Given the description of an element on the screen output the (x, y) to click on. 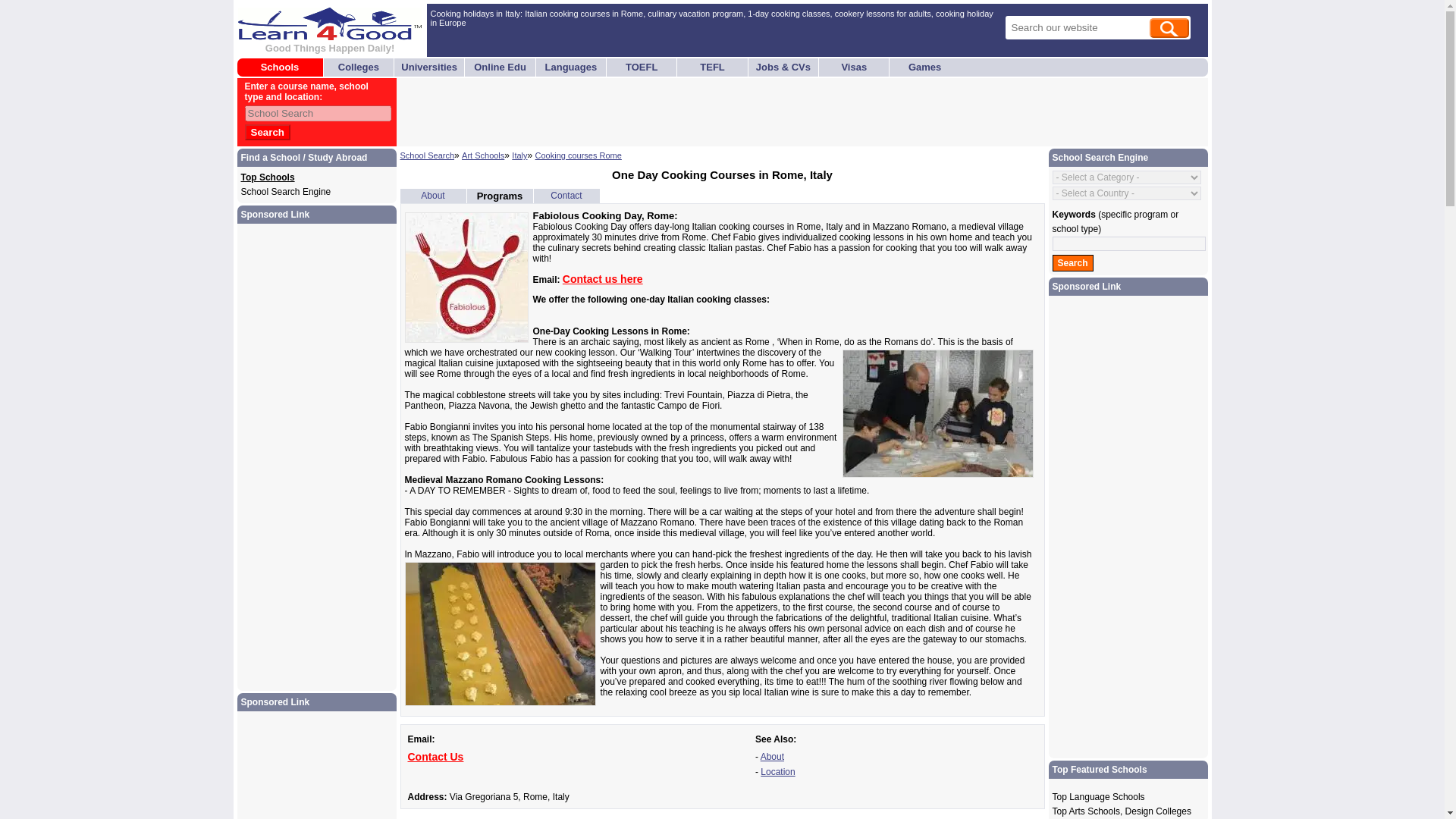
Universities (429, 66)
Italy (519, 154)
Languages (570, 66)
Contact us here (602, 278)
Good Things Happen Daily! (328, 42)
Search (266, 132)
Programs (499, 195)
Search (1072, 262)
TEFL (712, 66)
Schools (279, 66)
Contact Us (435, 756)
Visas (853, 66)
Location (777, 771)
About (772, 756)
Contact (565, 195)
